Given the description of an element on the screen output the (x, y) to click on. 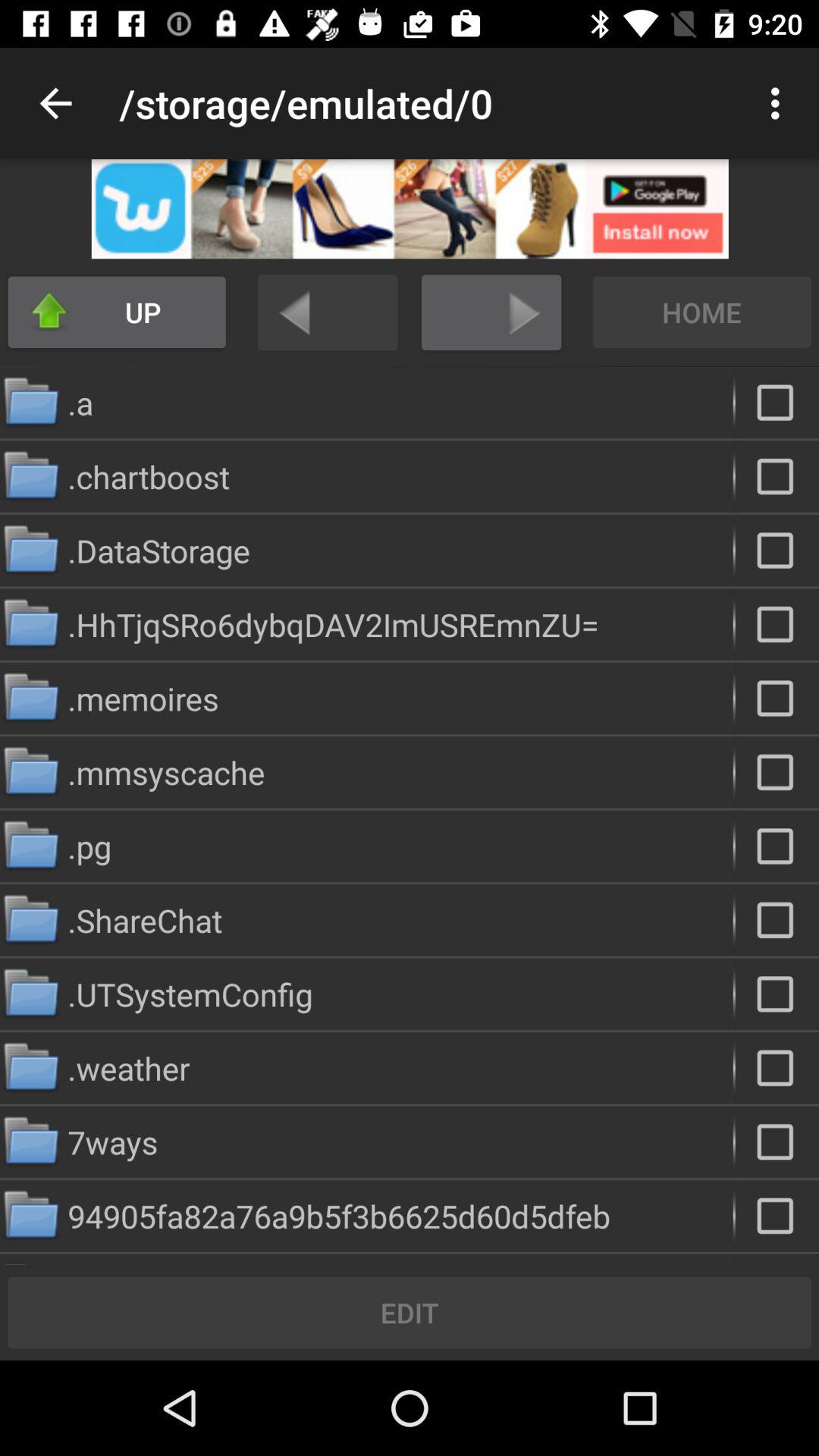
select folder (777, 772)
